Given the description of an element on the screen output the (x, y) to click on. 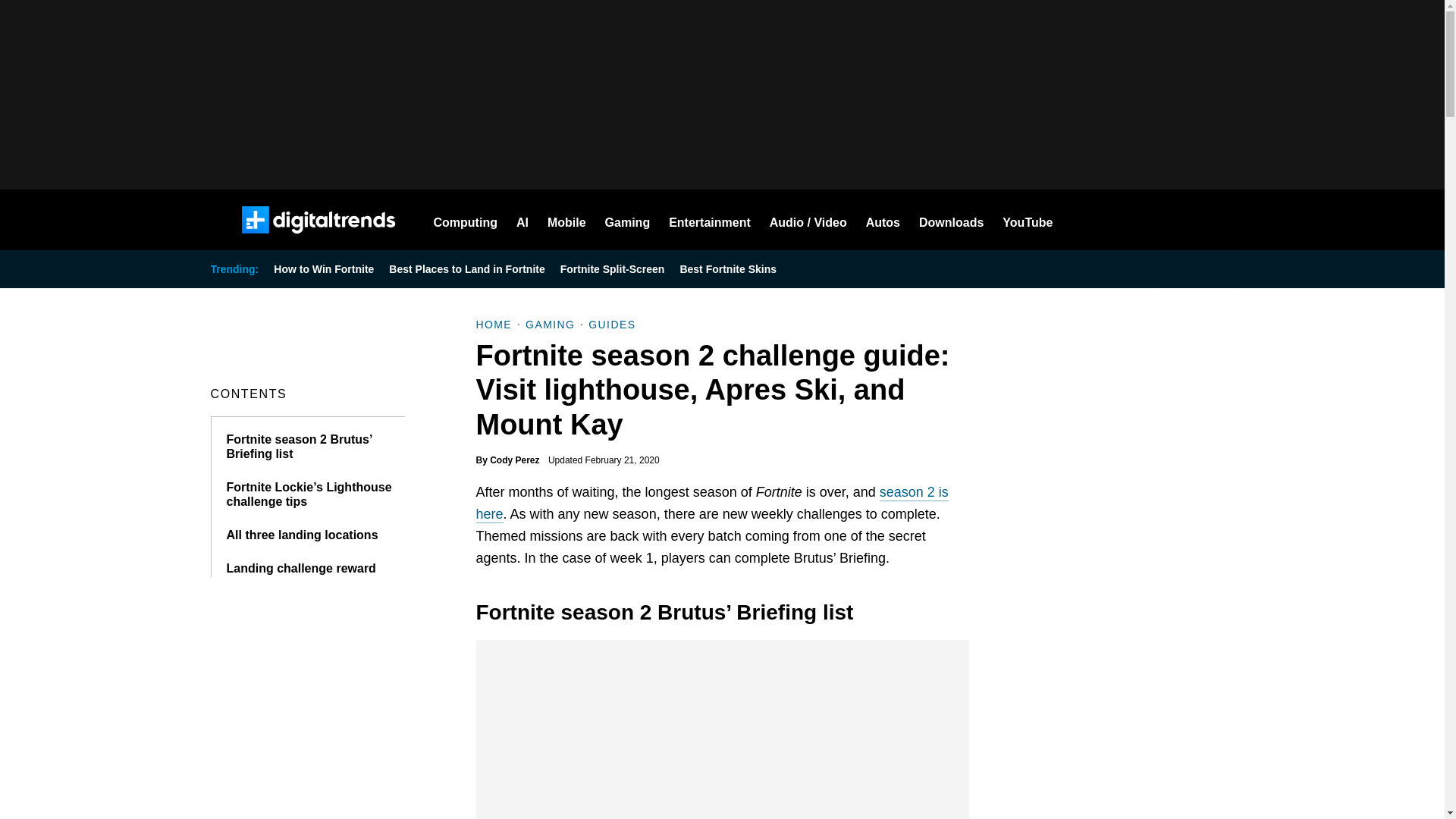
Computing (465, 219)
Entertainment (709, 219)
Downloads (951, 219)
